Given the description of an element on the screen output the (x, y) to click on. 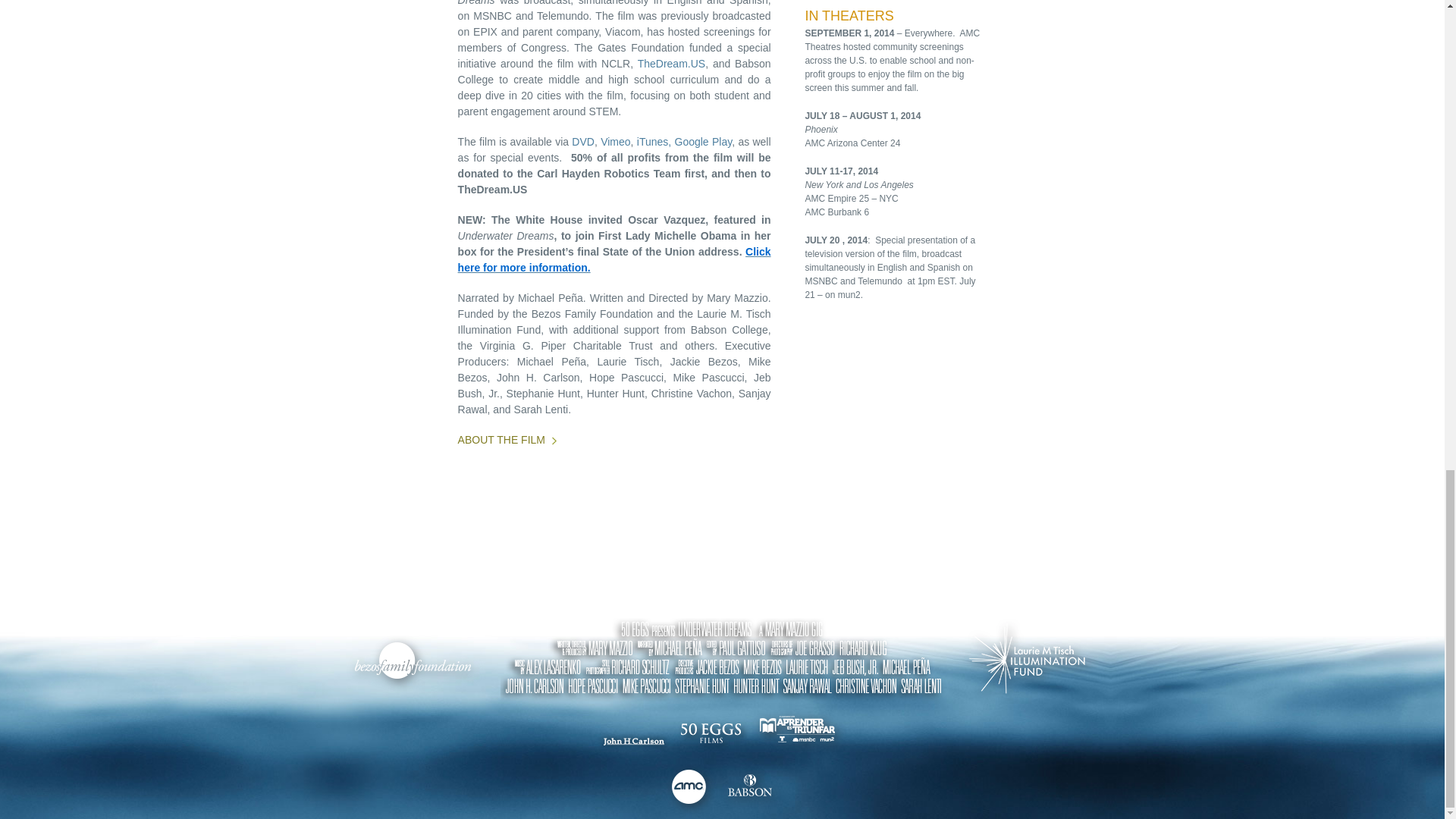
Laurie M Tisch Illumination Fund (415, 661)
Google Play (703, 141)
Laurie M Tisch Illumination Fund (1029, 661)
Click here for more information. (614, 259)
Vimeo (614, 141)
John H Carlson (632, 741)
50 Eggs (723, 660)
ABOUT THE FILM (507, 439)
DVD (583, 141)
TheDream.US (670, 63)
Babson College (750, 787)
50 Eggs (710, 733)
AMC Theaters (690, 790)
iTunes, (654, 141)
Aprender es Triunfar (799, 732)
